Given the description of an element on the screen output the (x, y) to click on. 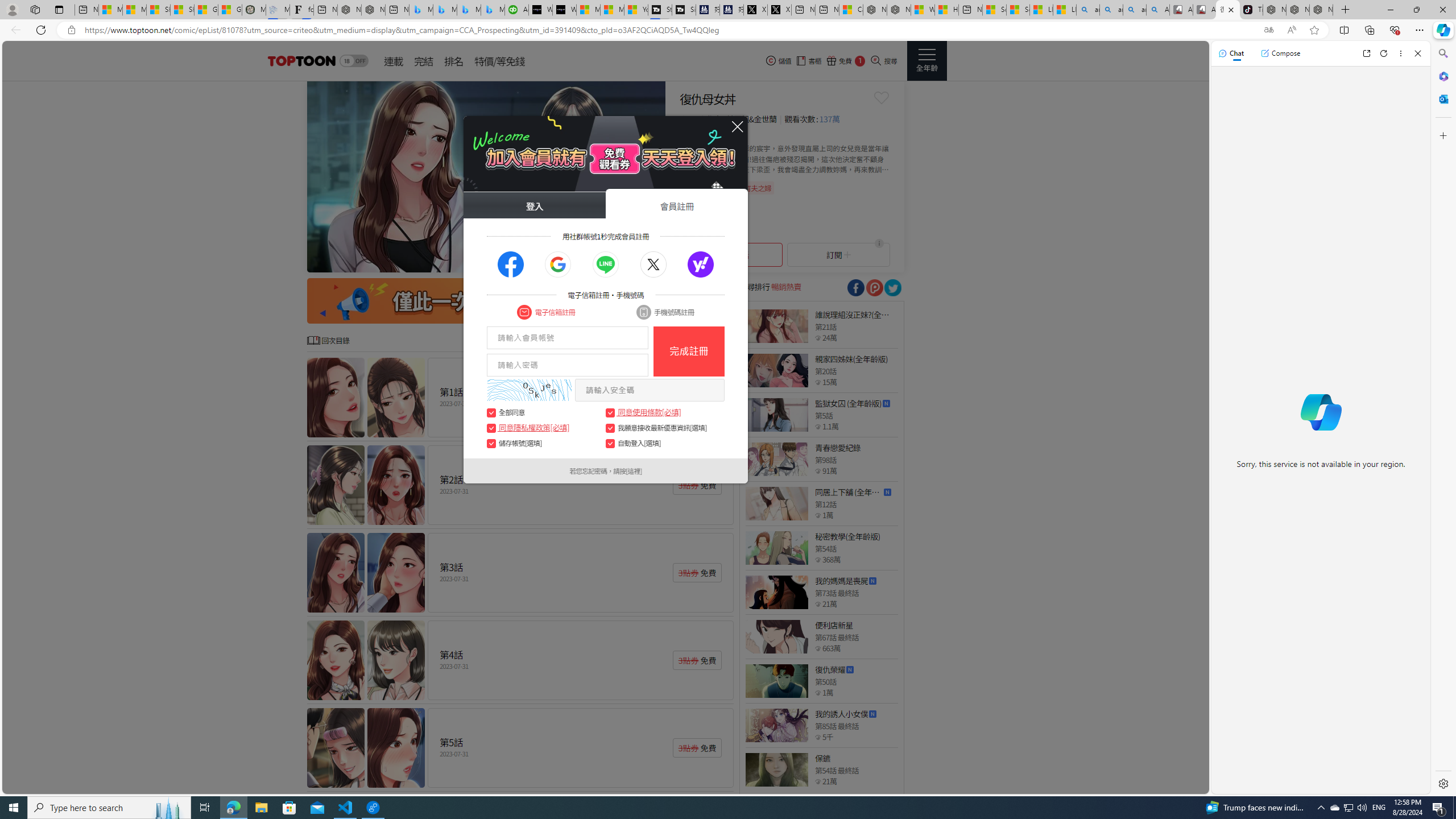
Class: socialBtn actionSocialJoinBtn (701, 264)
